Given the description of an element on the screen output the (x, y) to click on. 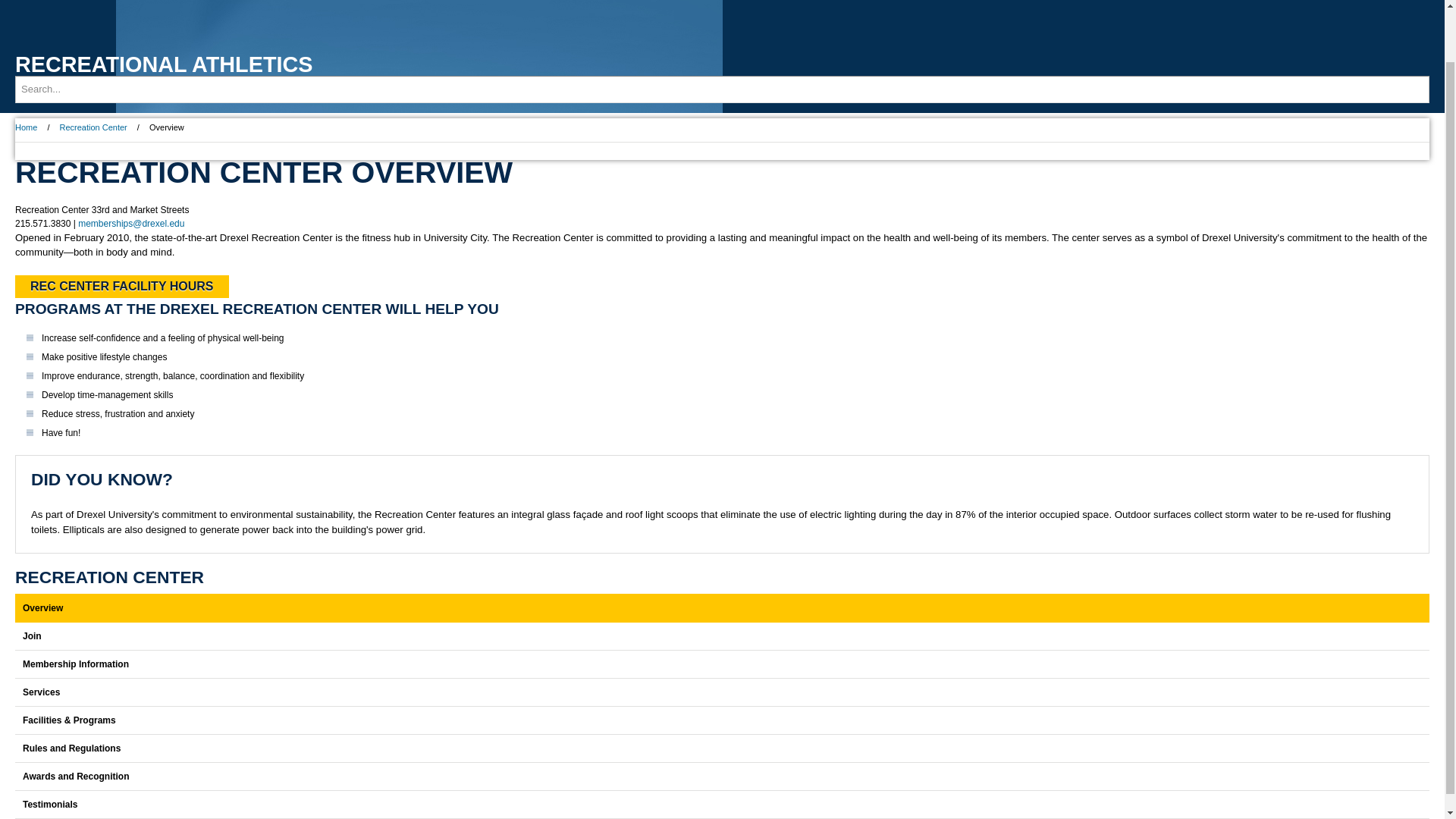
RECREATIONAL ATHLETICS (163, 64)
